Given the description of an element on the screen output the (x, y) to click on. 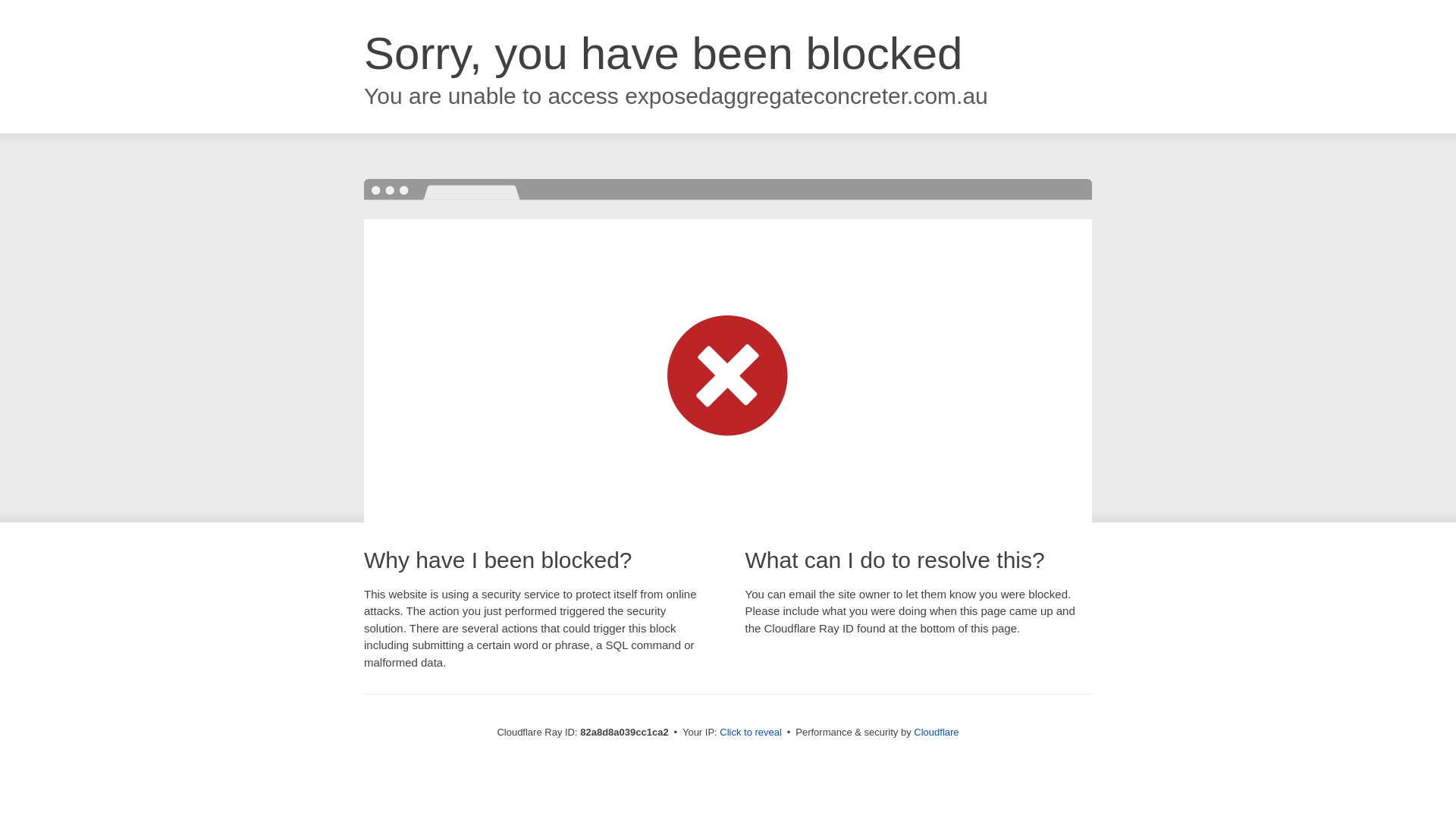
Click to reveal Element type: text (750, 732)
Cloudflare Element type: text (935, 731)
